Given the description of an element on the screen output the (x, y) to click on. 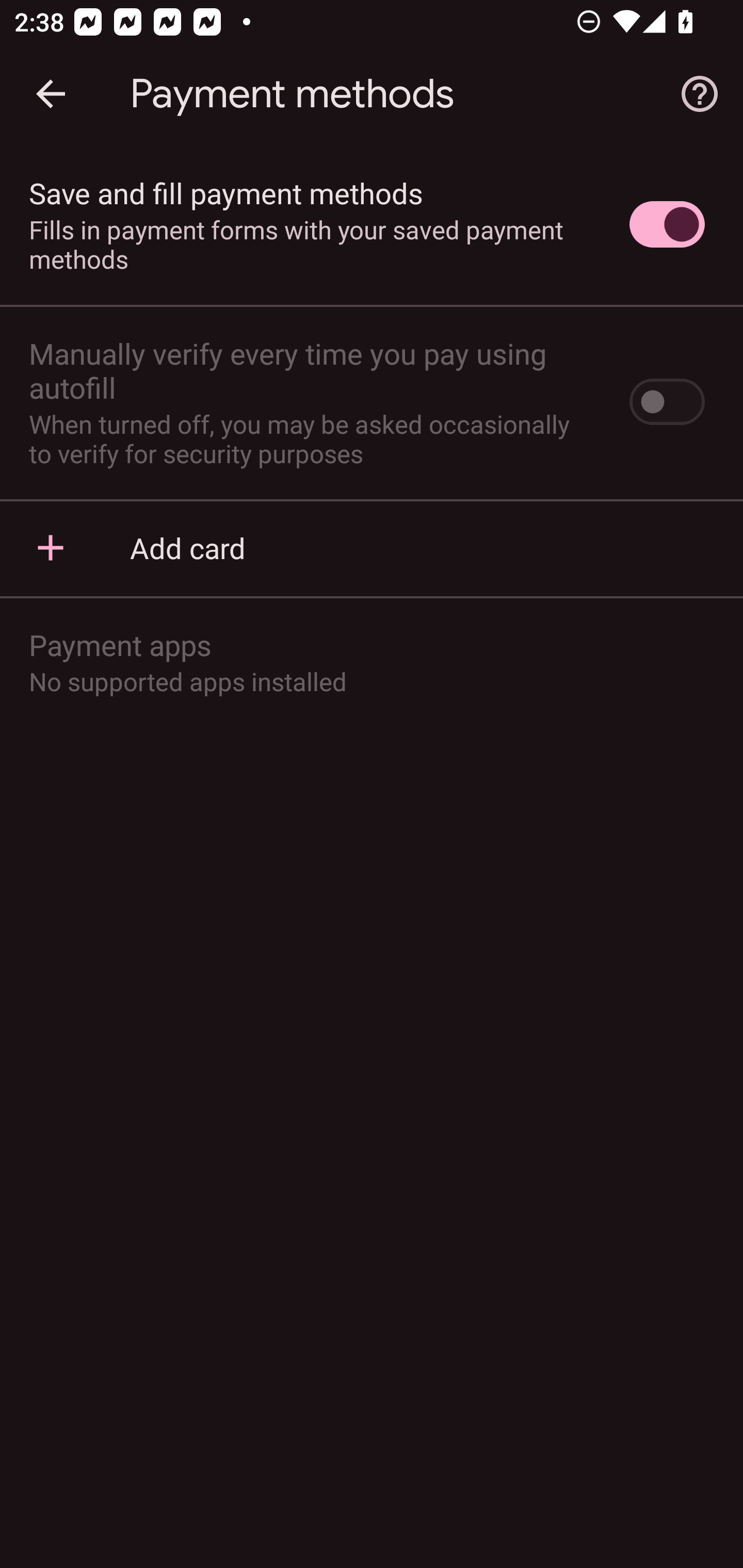
Navigate up (50, 93)
Help & feedback (699, 93)
Add card (371, 546)
Payment apps No supported apps installed (371, 661)
